Given the description of an element on the screen output the (x, y) to click on. 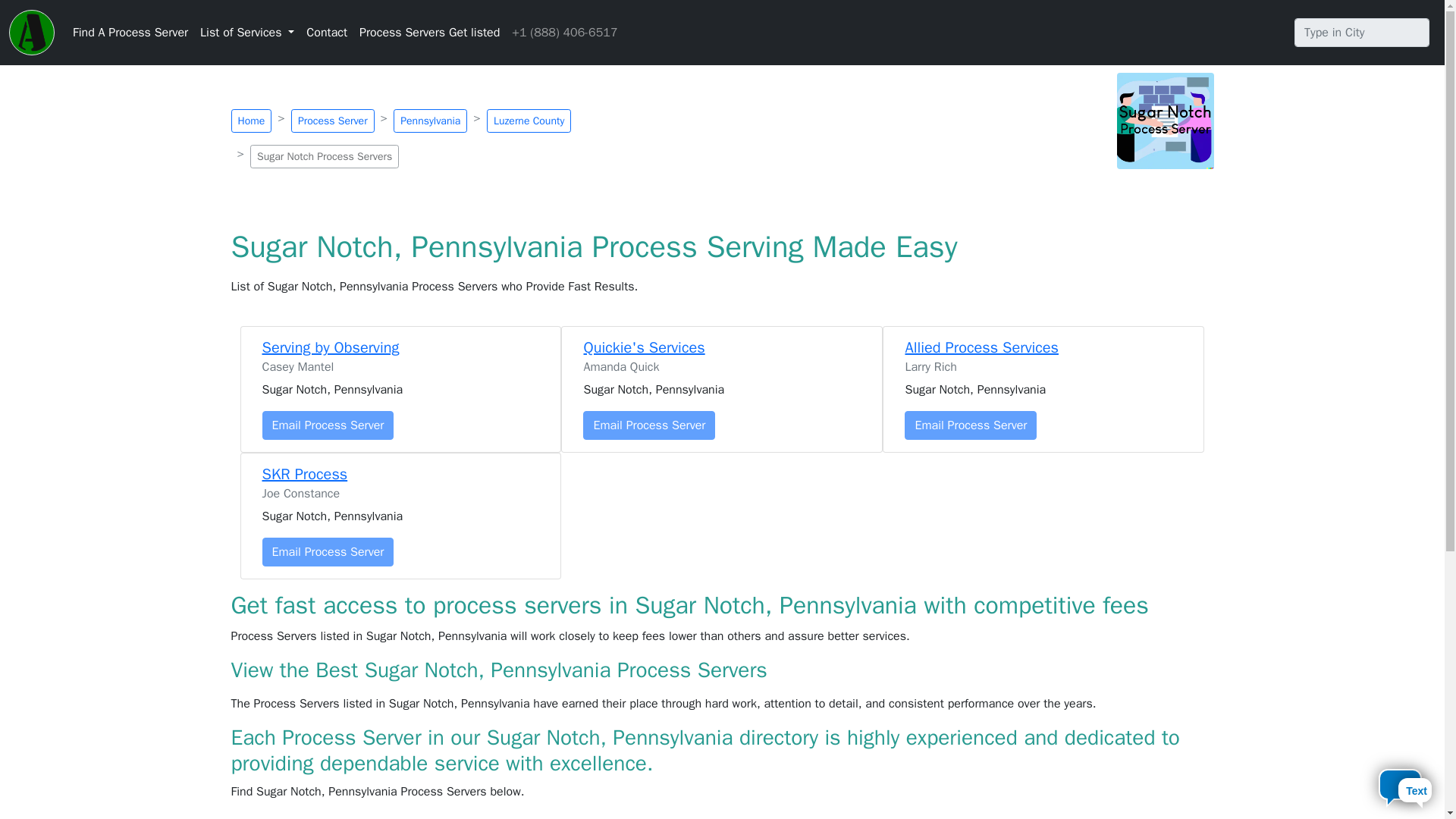
Email Process Server (328, 425)
Serving by Observing (330, 347)
Allied Process Services (981, 347)
Contact (326, 32)
Email Process Server (970, 425)
Email Process Server (328, 551)
Email Process Server (648, 425)
List of Services (246, 32)
Luzerne County (528, 120)
Quickie's Services (643, 347)
